Given the description of an element on the screen output the (x, y) to click on. 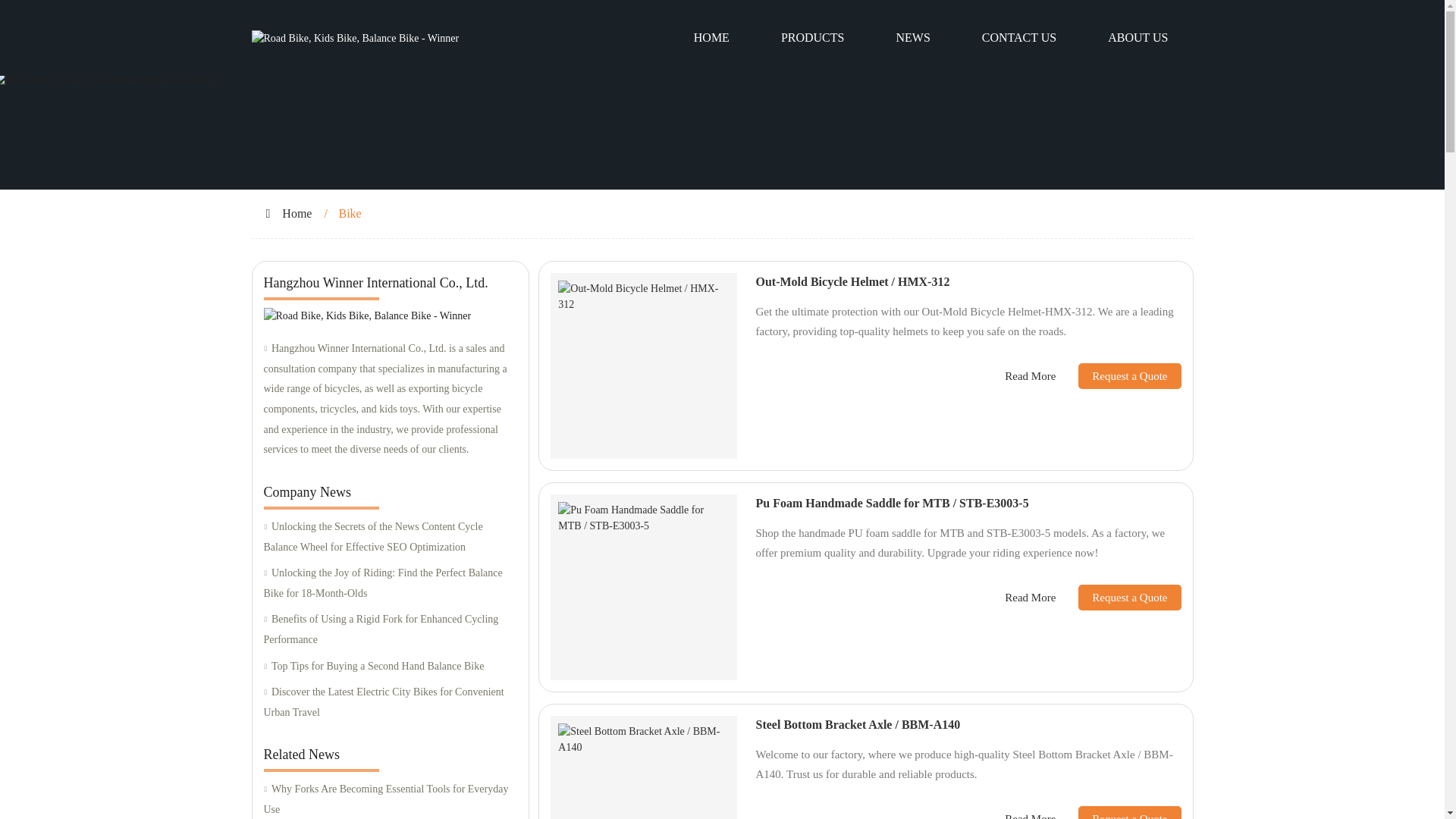
PRODUCTS (812, 38)
CONTACT US (1018, 38)
Top Tips for Buying a Second Hand Balance Bike (389, 666)
Request a Quote (1117, 376)
Read More (1029, 375)
